Given the description of an element on the screen output the (x, y) to click on. 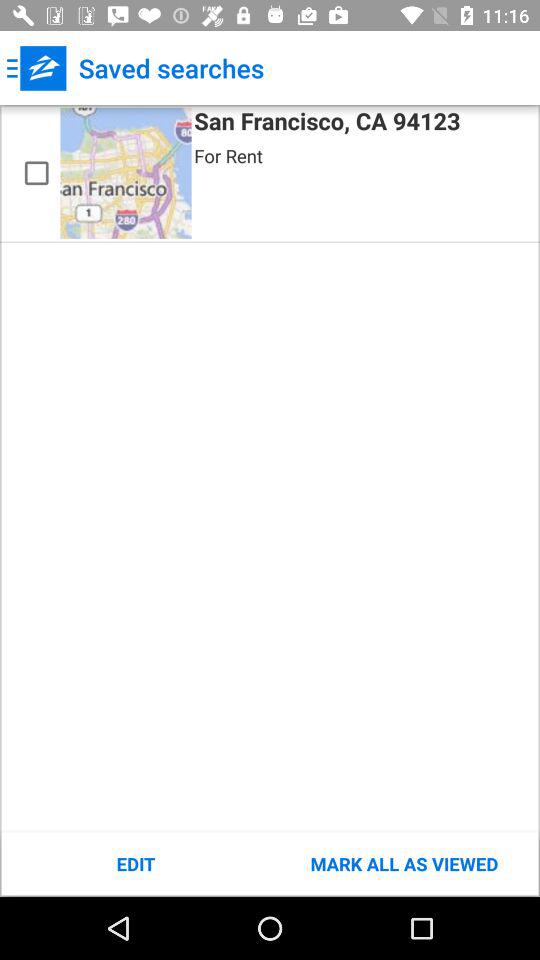
select the san francisco ca item (327, 124)
